Given the description of an element on the screen output the (x, y) to click on. 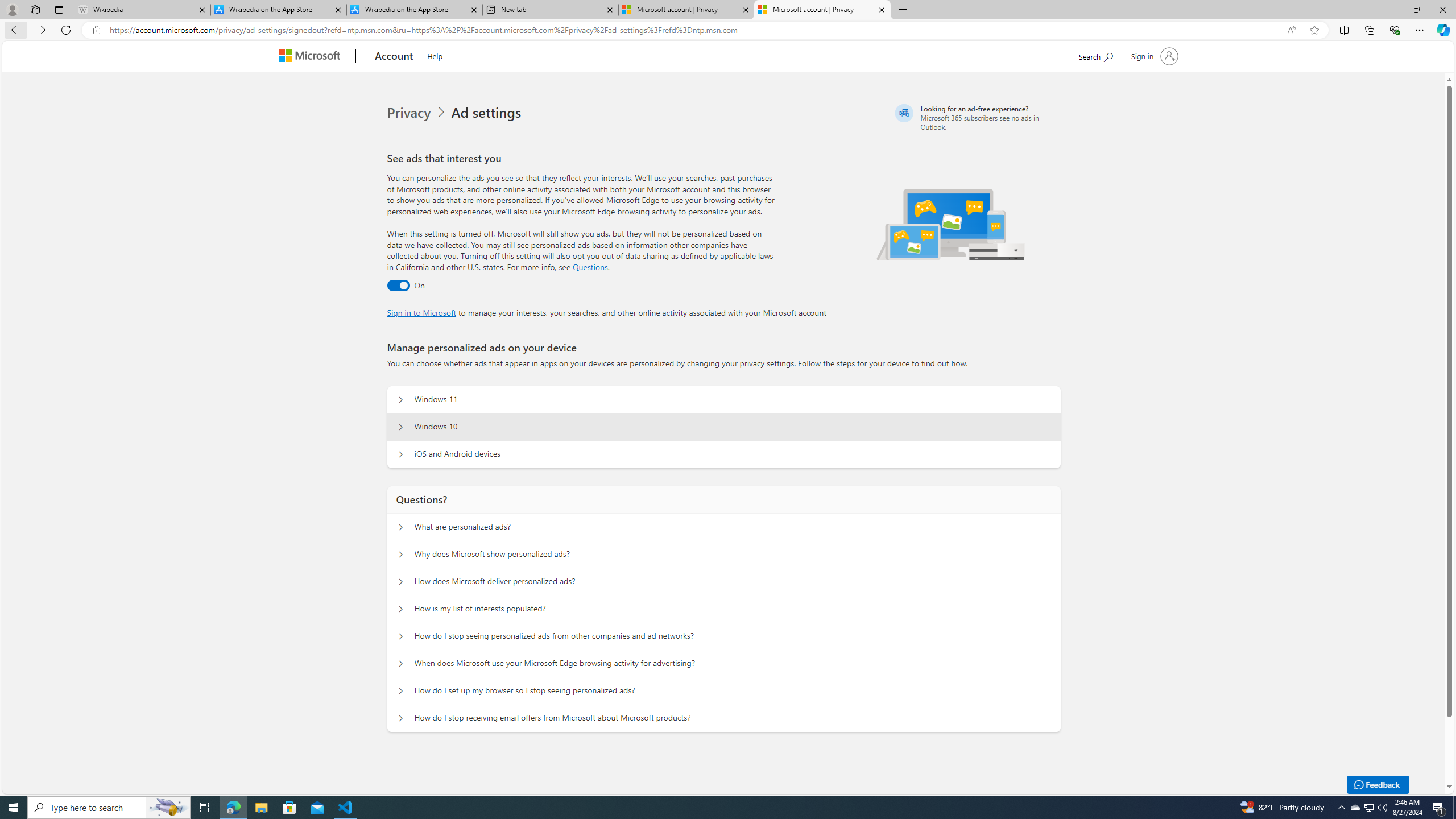
Illustration of multiple devices (951, 224)
Questions? How does Microsoft deliver personalized ads? (401, 581)
